Given the description of an element on the screen output the (x, y) to click on. 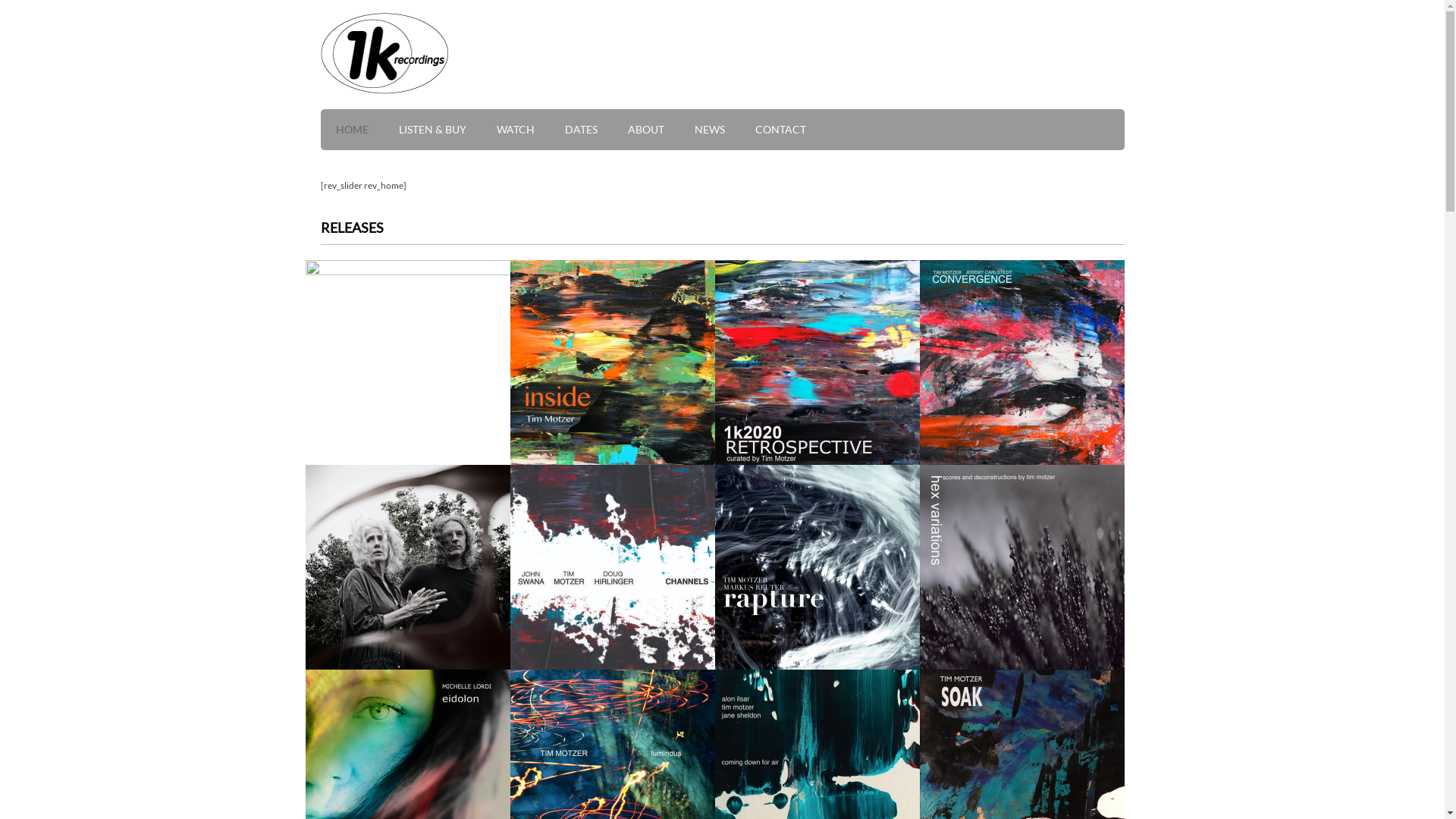
ABOUT Element type: text (660, 137)
NEWS Element type: text (724, 137)
CONTACT Element type: text (795, 137)
DATES Element type: text (595, 137)
HOME Element type: text (366, 137)
LISTEN & BUY Element type: text (447, 137)
1k2020 Retrospective, curated by Tim Motzer Element type: hover (816, 362)
WATCH Element type: text (529, 137)
celebrating 20+ years releasing creative music Element type: hover (383, 53)
